Given the description of an element on the screen output the (x, y) to click on. 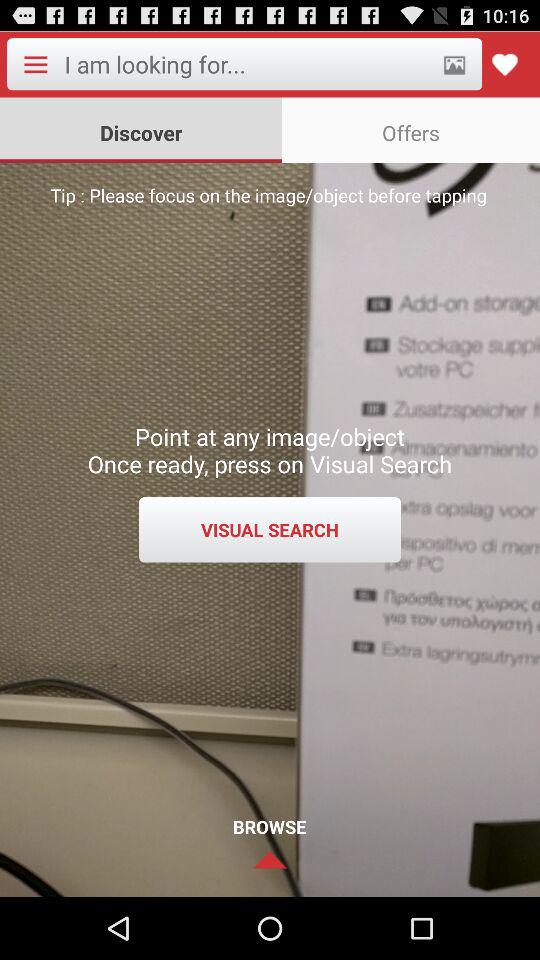
enter text in prompt (246, 64)
